Given the description of an element on the screen output the (x, y) to click on. 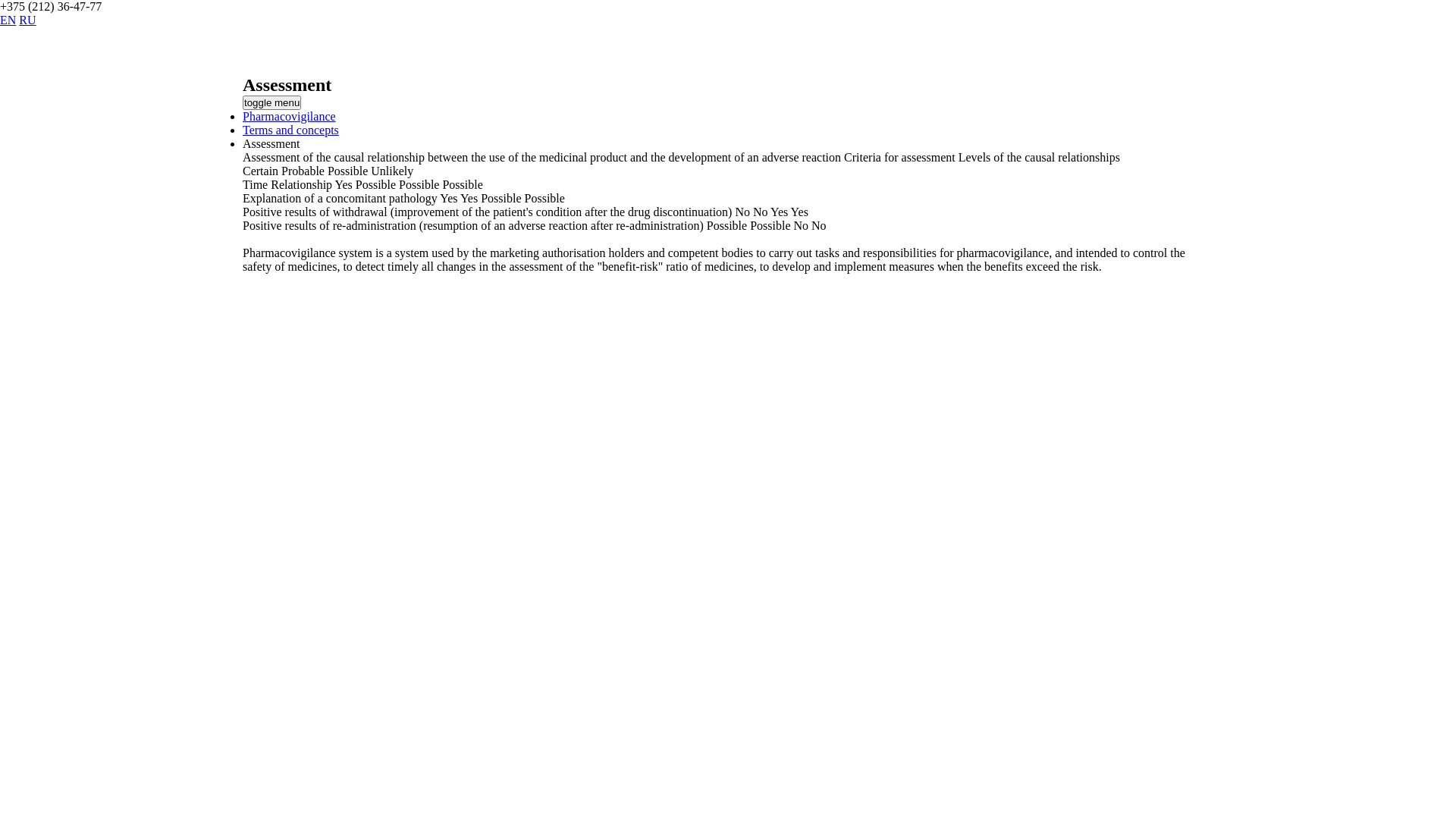
Terms and concepts Element type: text (290, 129)
Pharmacovigilance Element type: text (288, 115)
toggle menu Element type: text (271, 102)
RU Element type: text (26, 19)
EN Element type: text (7, 19)
